Given the description of an element on the screen output the (x, y) to click on. 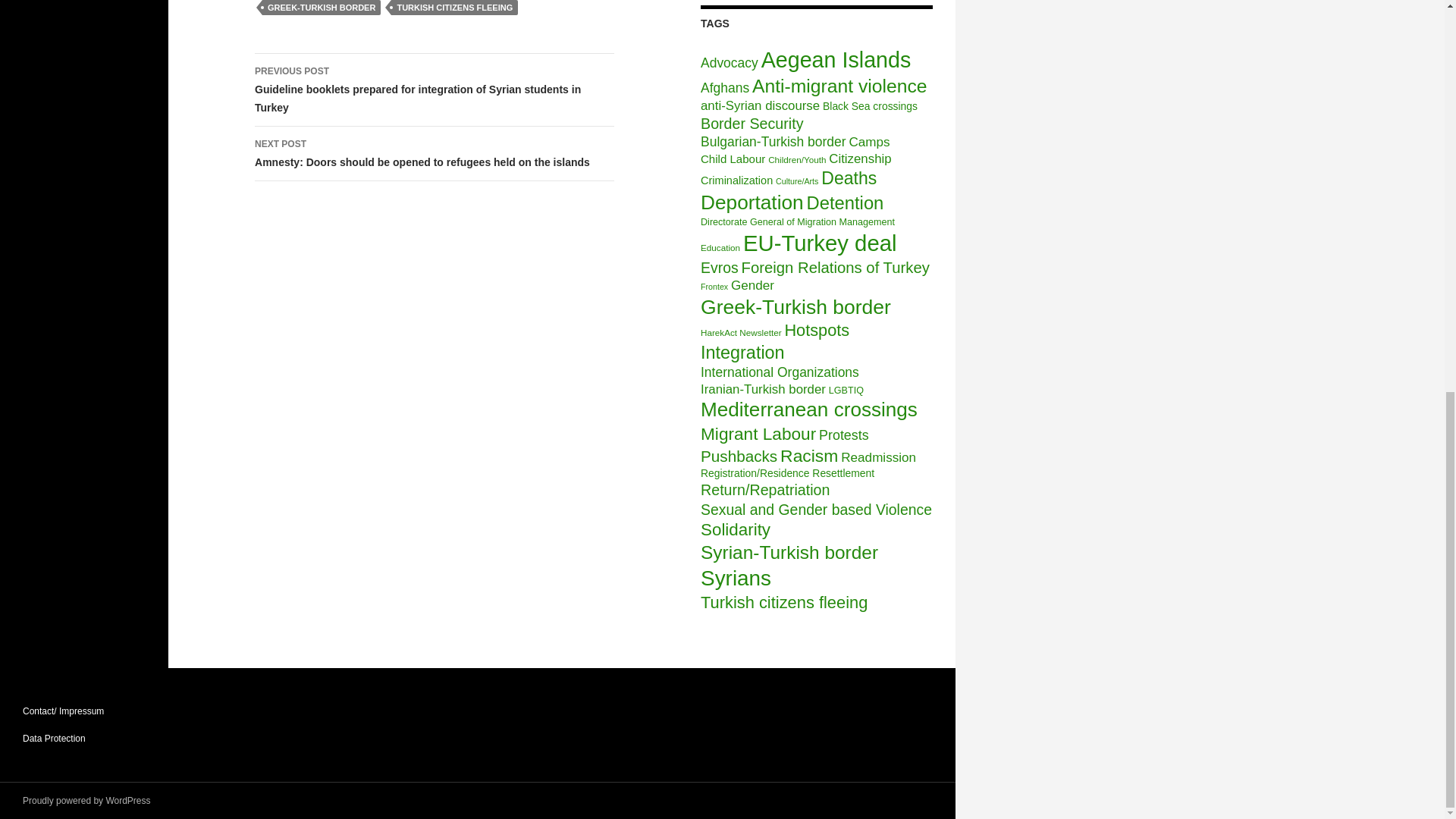
Advocacy (729, 62)
GREEK-TURKISH BORDER (321, 7)
TURKISH CITIZENS FLEEING (454, 7)
